Given the description of an element on the screen output the (x, y) to click on. 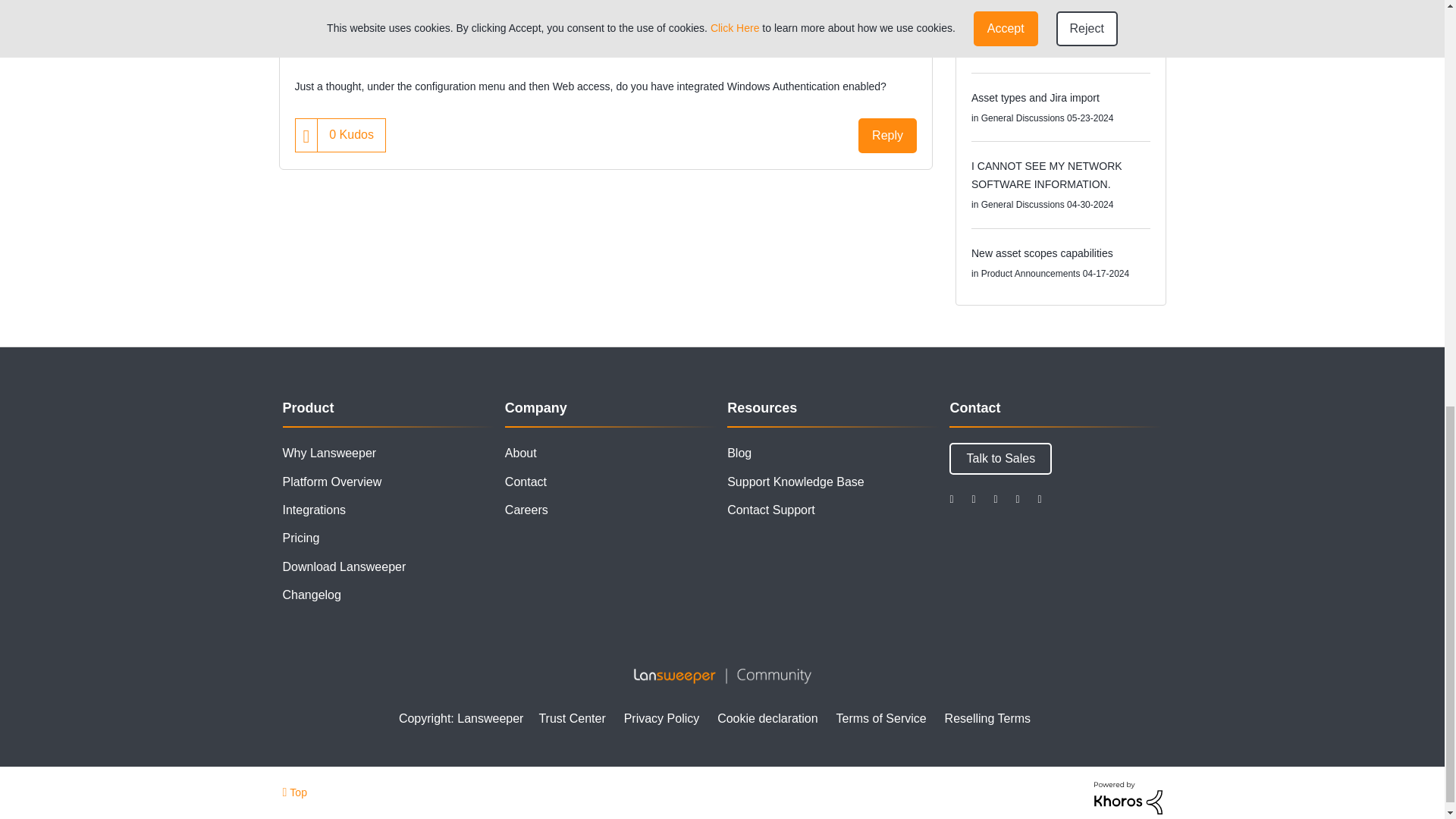
Top (293, 791)
Top (293, 791)
